Given the description of an element on the screen output the (x, y) to click on. 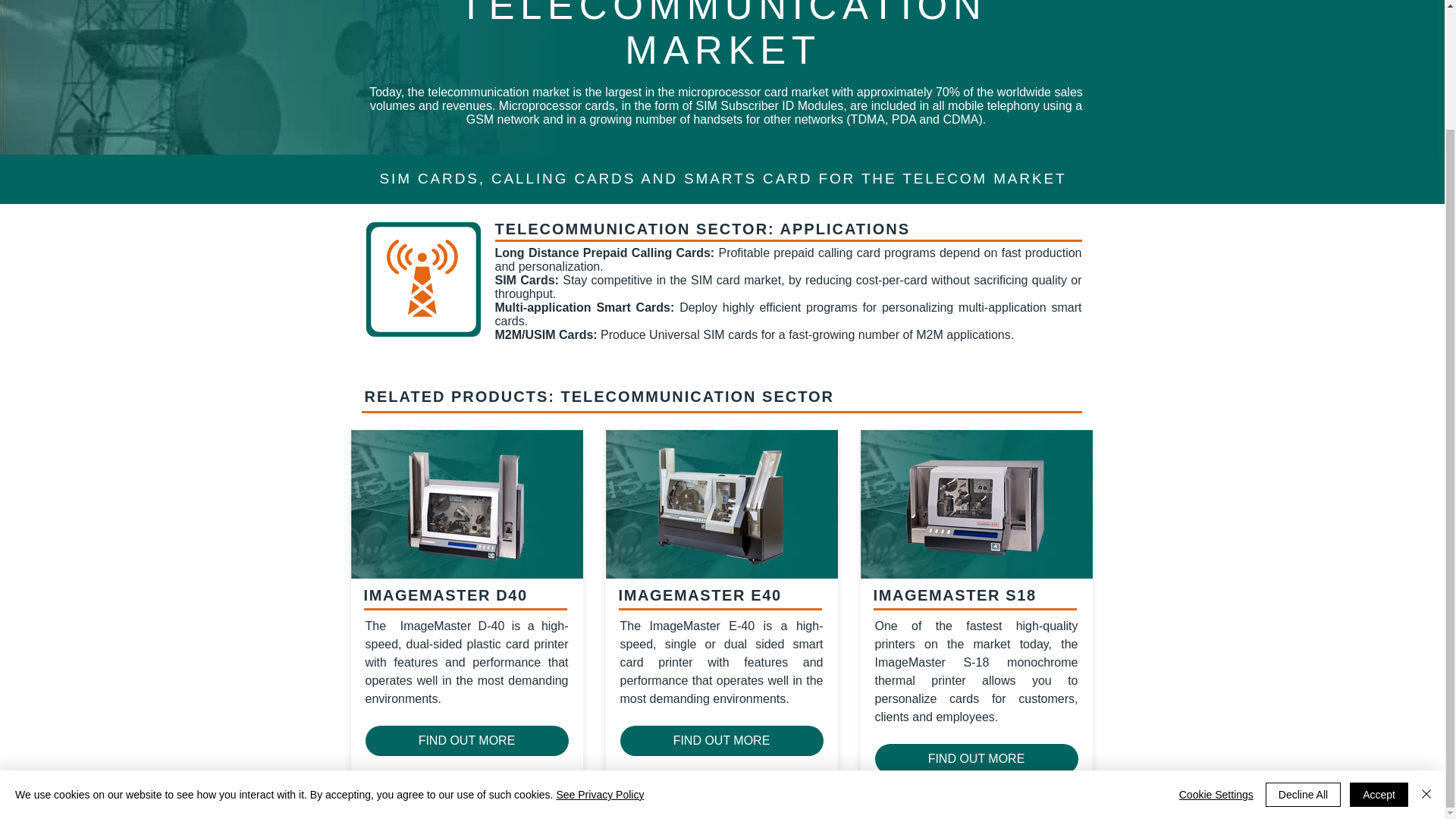
FIND OUT MORE (976, 758)
Decline All (1302, 651)
FIND OUT MORE (722, 740)
Do Not Sell My Personal Information (411, 805)
See Privacy Policy (599, 651)
Accept (1378, 651)
FIND OUT MORE (467, 740)
